Given the description of an element on the screen output the (x, y) to click on. 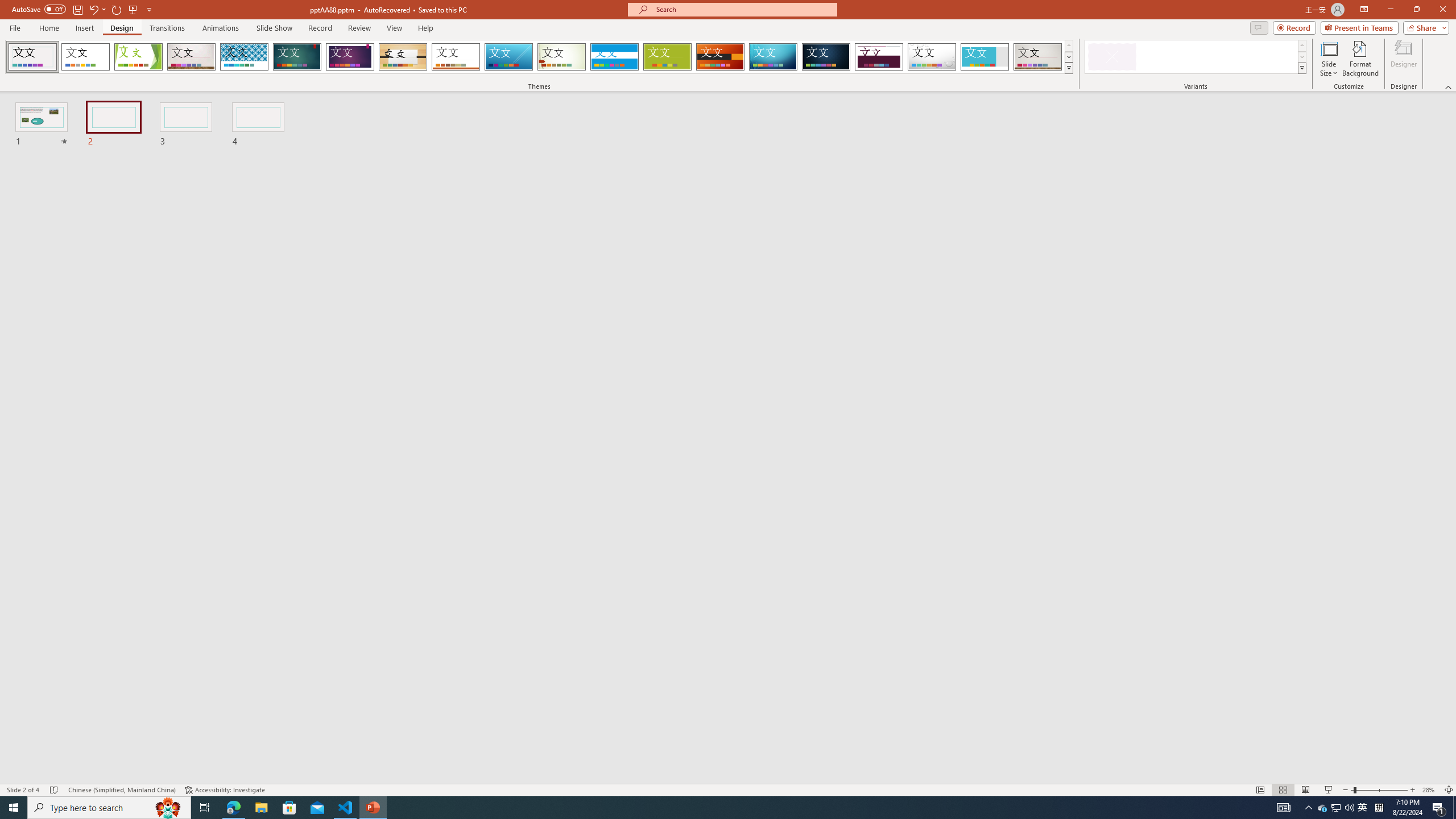
Variants (1301, 67)
Berlin Loading Preview... (720, 56)
Organic Loading Preview... (403, 56)
Retrospect Loading Preview... (455, 56)
